Given the description of an element on the screen output the (x, y) to click on. 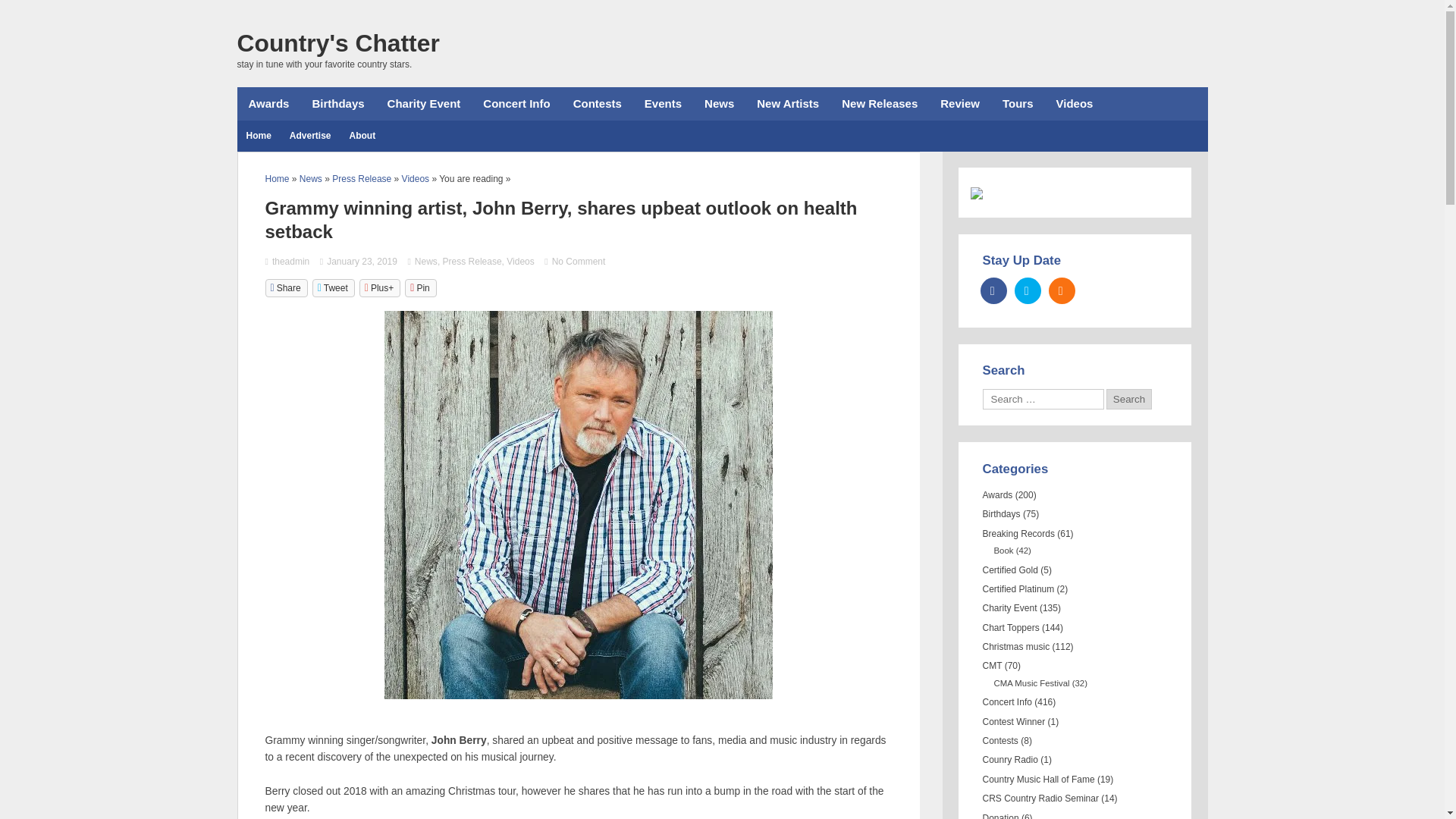
Search (1128, 399)
News (310, 178)
Tours (1018, 103)
Awards (267, 103)
Pin this post in Pinterest (419, 288)
Home (276, 178)
New Releases (878, 103)
Press Release (472, 261)
Review (959, 103)
Videos (1075, 103)
Share (285, 288)
Pin (419, 288)
Country's Chatter (337, 42)
Birthdays (337, 103)
Tweet (334, 288)
